Given the description of an element on the screen output the (x, y) to click on. 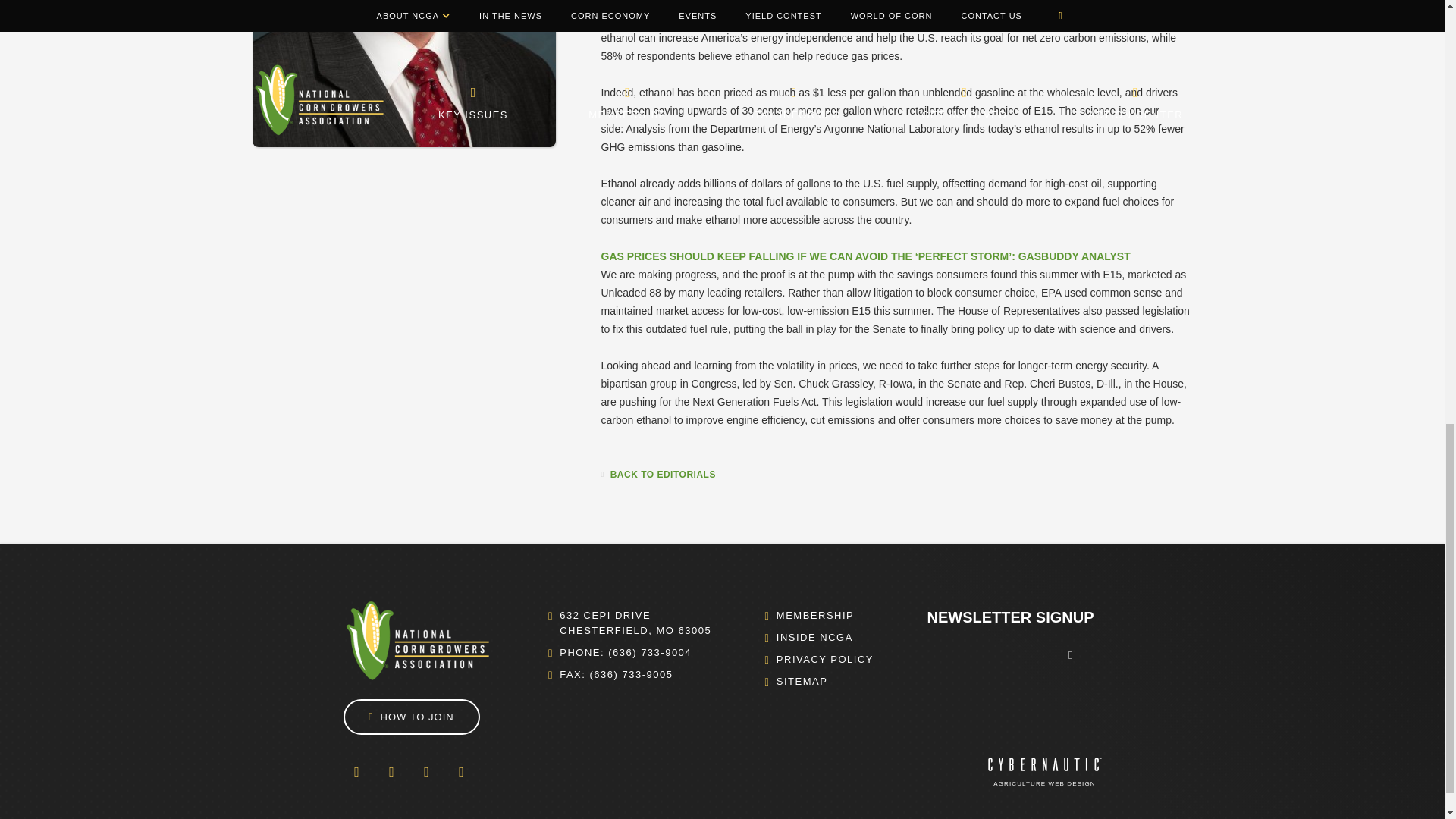
Soundcloud (460, 771)
Flickr (425, 771)
Facebook (355, 771)
Twitter (390, 771)
